Given the description of an element on the screen output the (x, y) to click on. 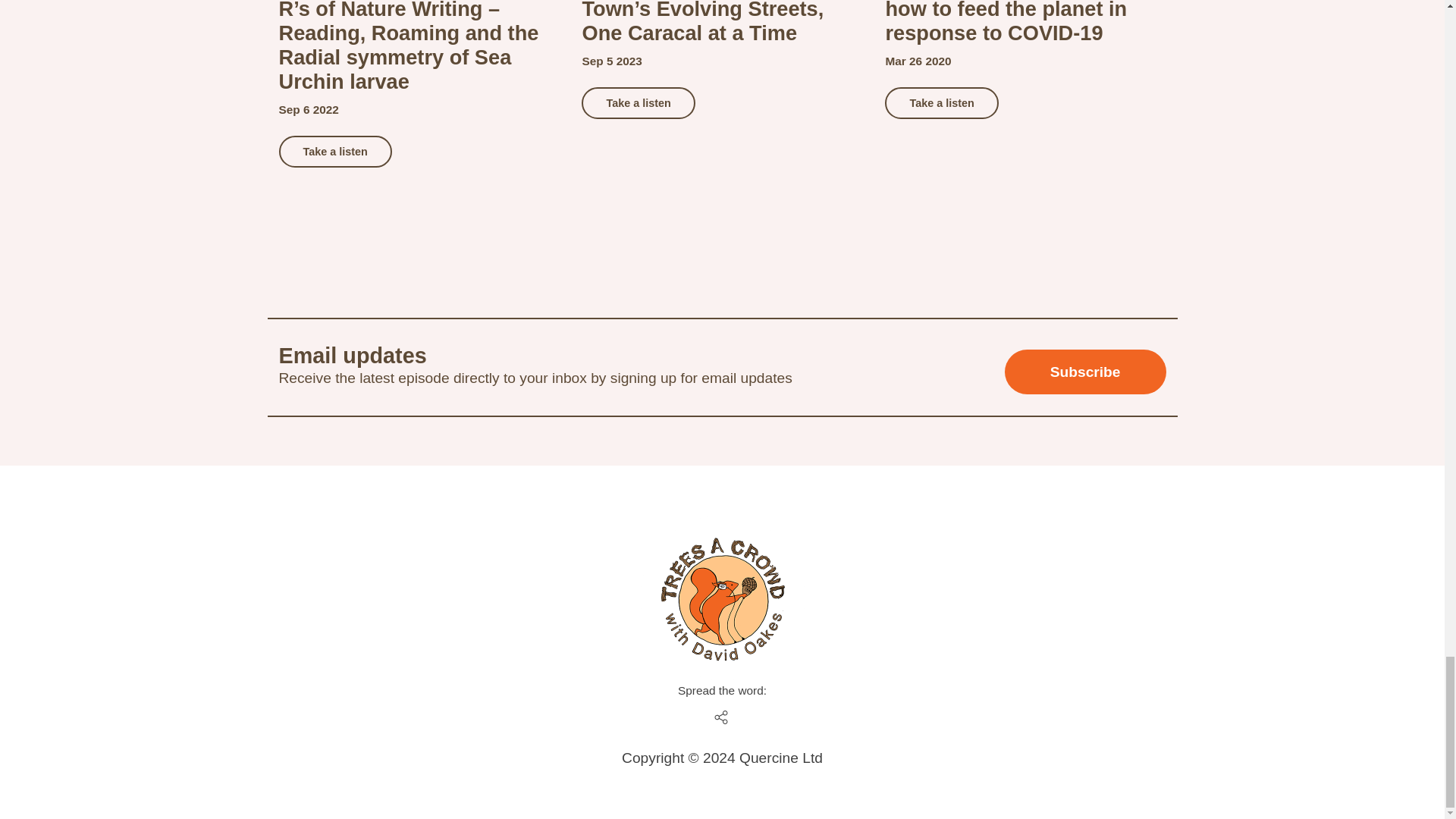
Subscribe (1085, 372)
Take a listen (335, 151)
Take a listen (941, 102)
Subscribe (1085, 371)
Take a listen (637, 102)
Take a listen (637, 102)
Take a listen (941, 102)
Take a listen (335, 151)
